Given the description of an element on the screen output the (x, y) to click on. 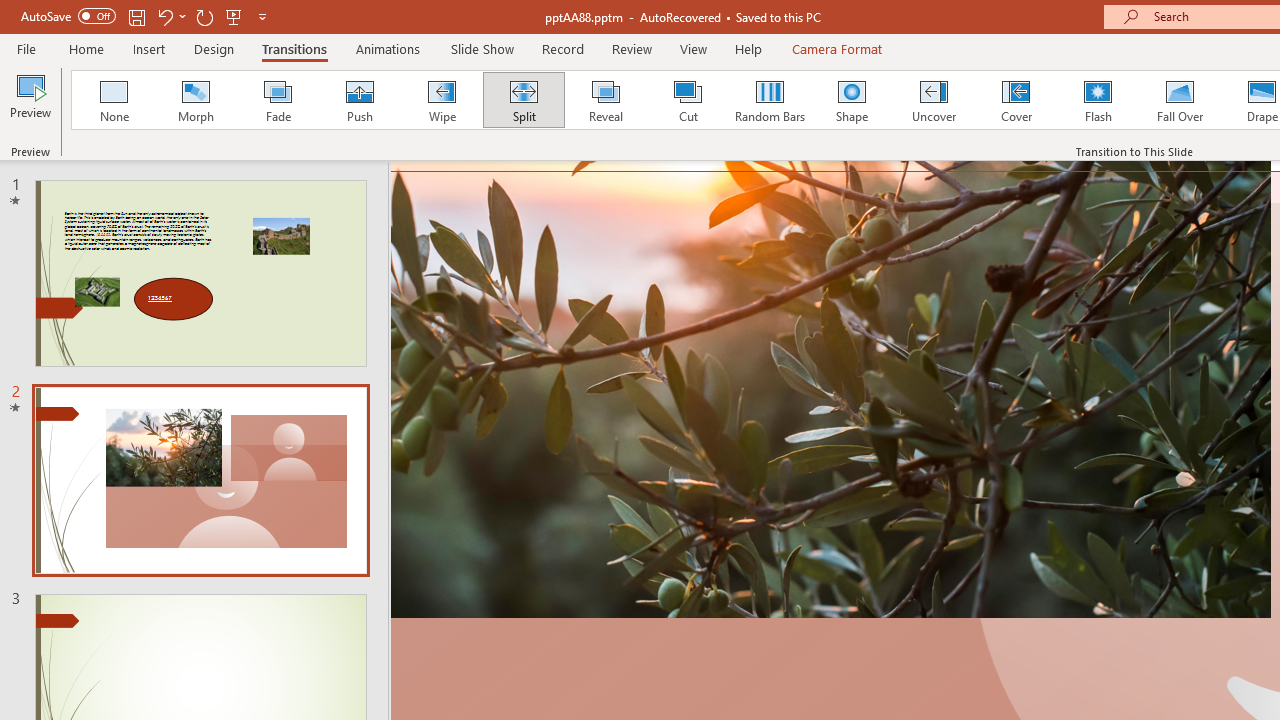
Morph (195, 100)
Flash (1098, 100)
Reveal (605, 100)
Fade (277, 100)
Close up of an olive branch on a sunset (830, 389)
Camera Format (836, 48)
